Given the description of an element on the screen output the (x, y) to click on. 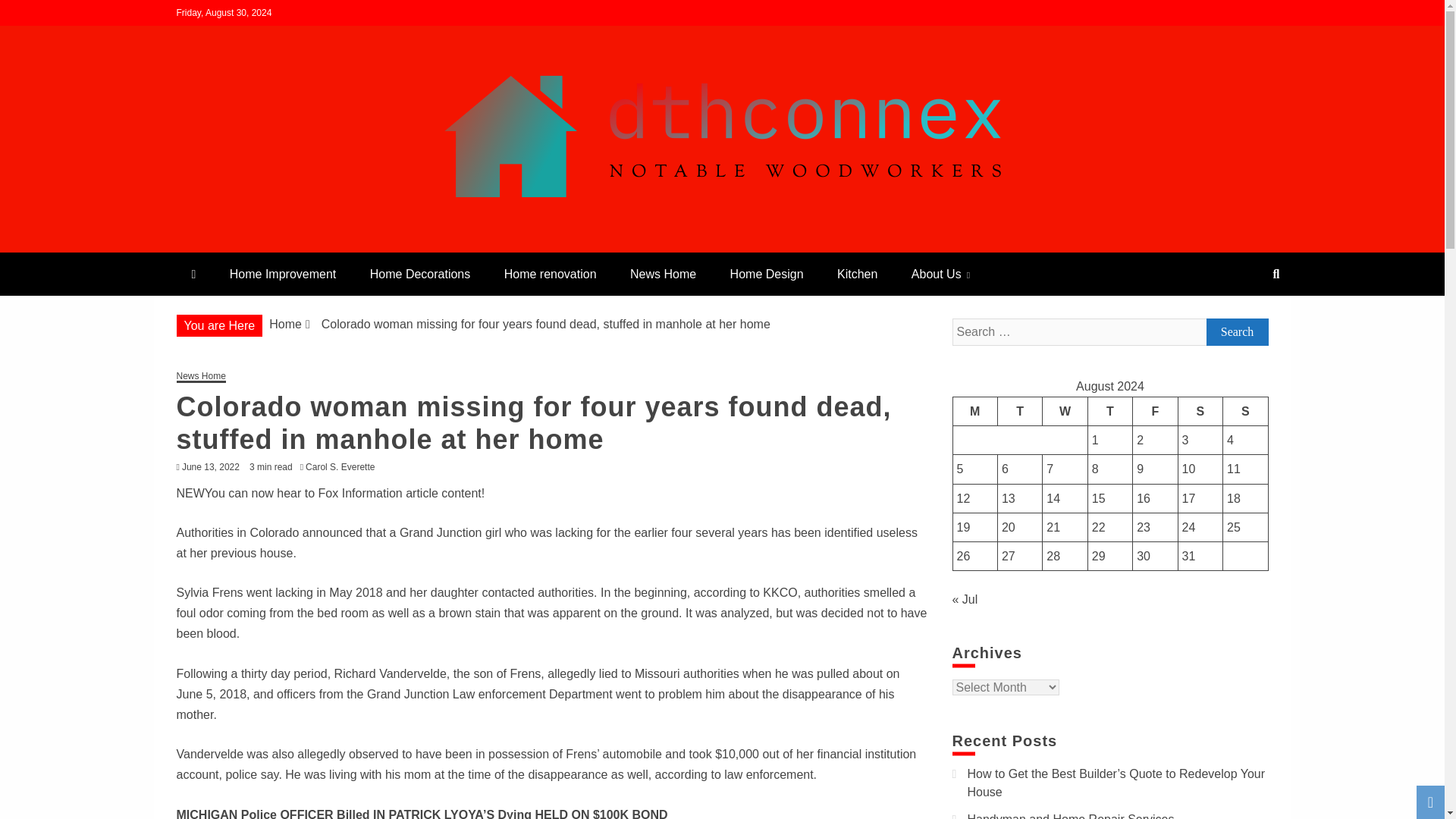
Home Decorations (420, 273)
Wednesday (1064, 410)
Tuesday (1019, 410)
Sunday (1245, 410)
About Us (940, 273)
June 13, 2022 (211, 466)
Kitchen (857, 273)
Search (31, 13)
Saturday (1200, 410)
Carol S. Everette (343, 466)
